Given the description of an element on the screen output the (x, y) to click on. 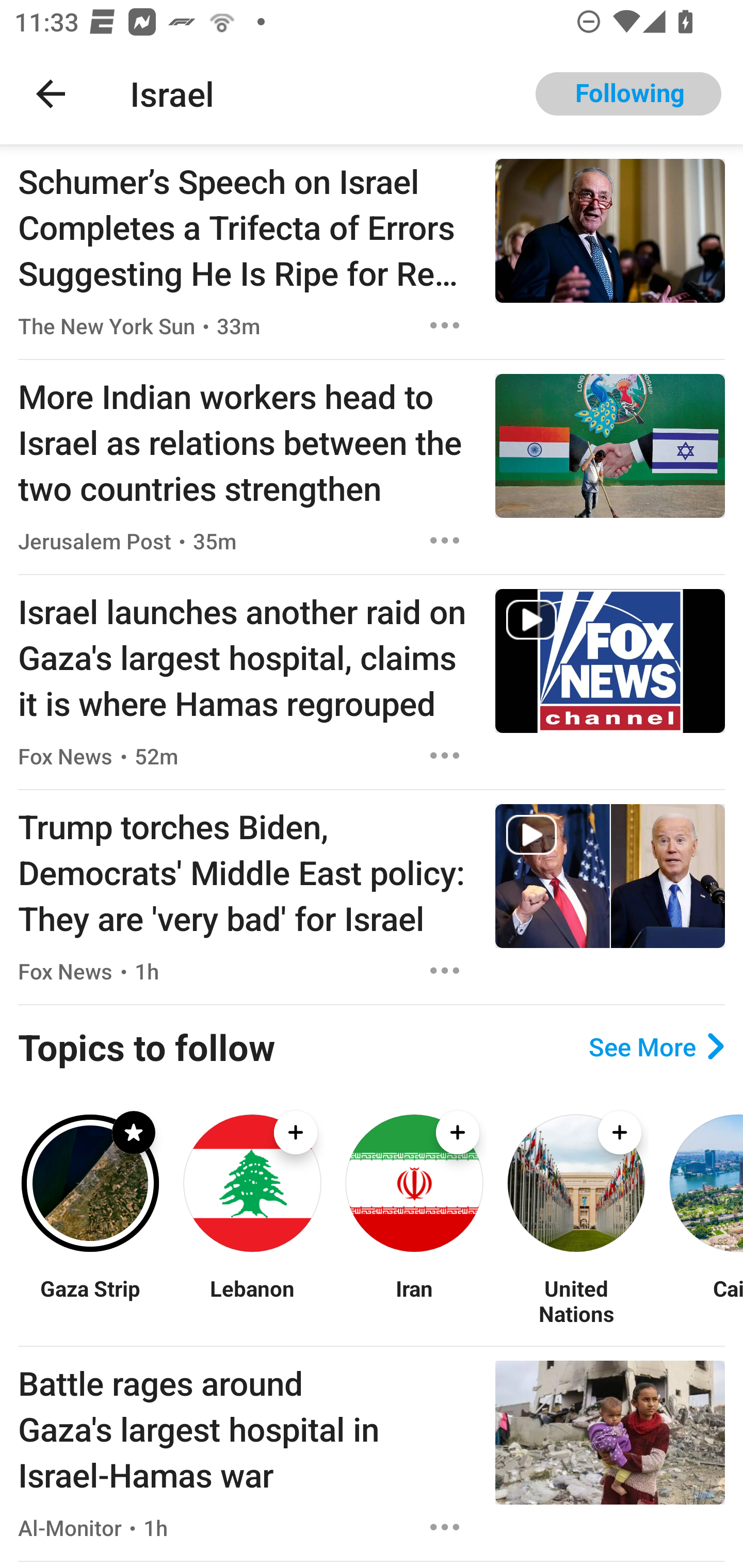
Navigate up (50, 93)
Following (628, 94)
Options (444, 325)
Options (444, 540)
Options (444, 755)
Options (444, 970)
See More (656, 1046)
Gaza Strip (89, 1300)
Lebanon (251, 1300)
Iran (413, 1300)
United Nations (575, 1300)
Options (444, 1527)
